Given the description of an element on the screen output the (x, y) to click on. 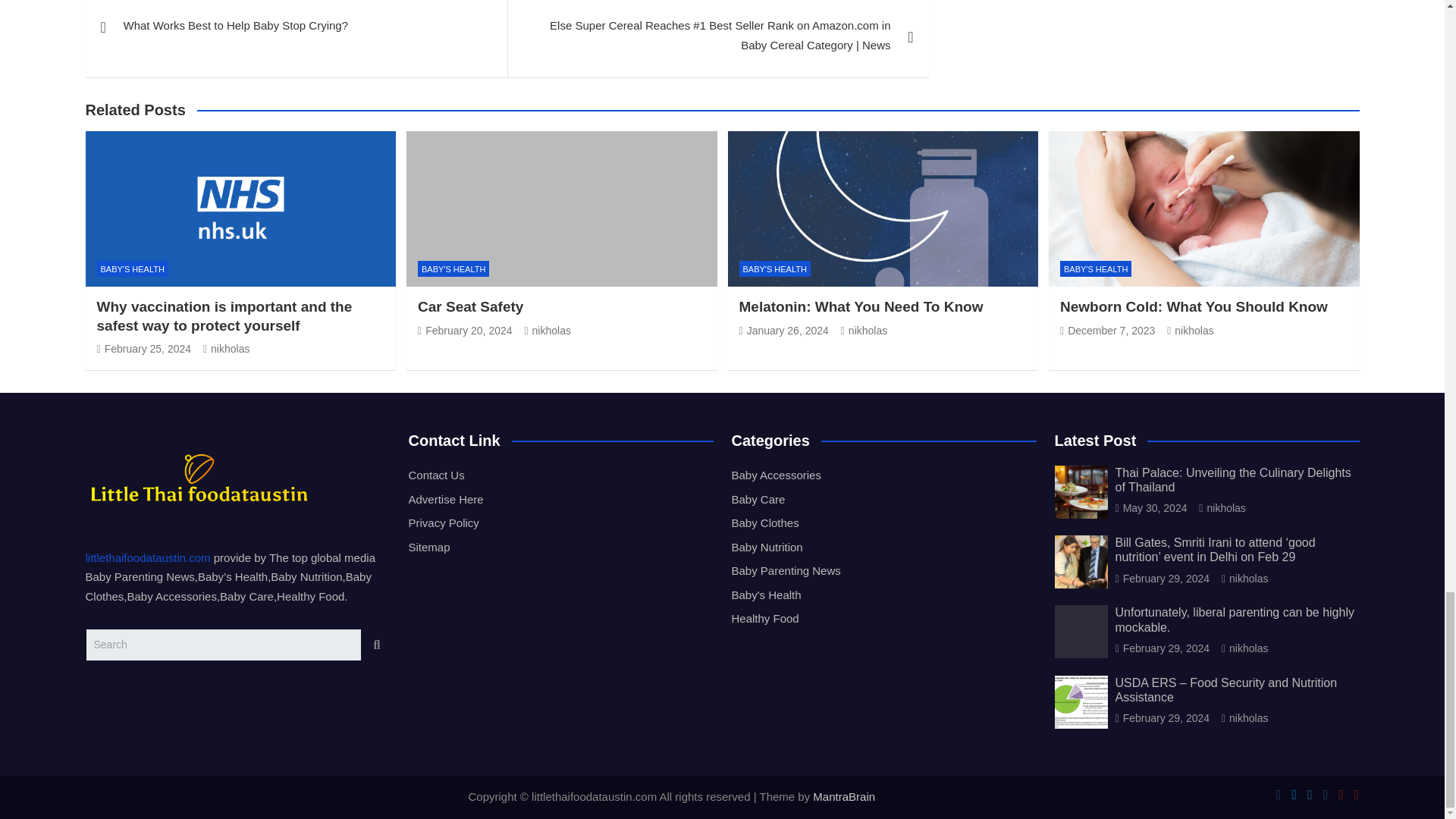
Unfortunately, liberal parenting can be highly mockable. (1162, 648)
Car Seat Safety (464, 330)
Melatonin: What You Need To Know (783, 330)
Newborn Cold: What You Should Know (1106, 330)
Thai Palace: Unveiling the Culinary Delights of Thailand (1150, 508)
What Works Best to Help Baby Stop Crying? (295, 29)
